Given the description of an element on the screen output the (x, y) to click on. 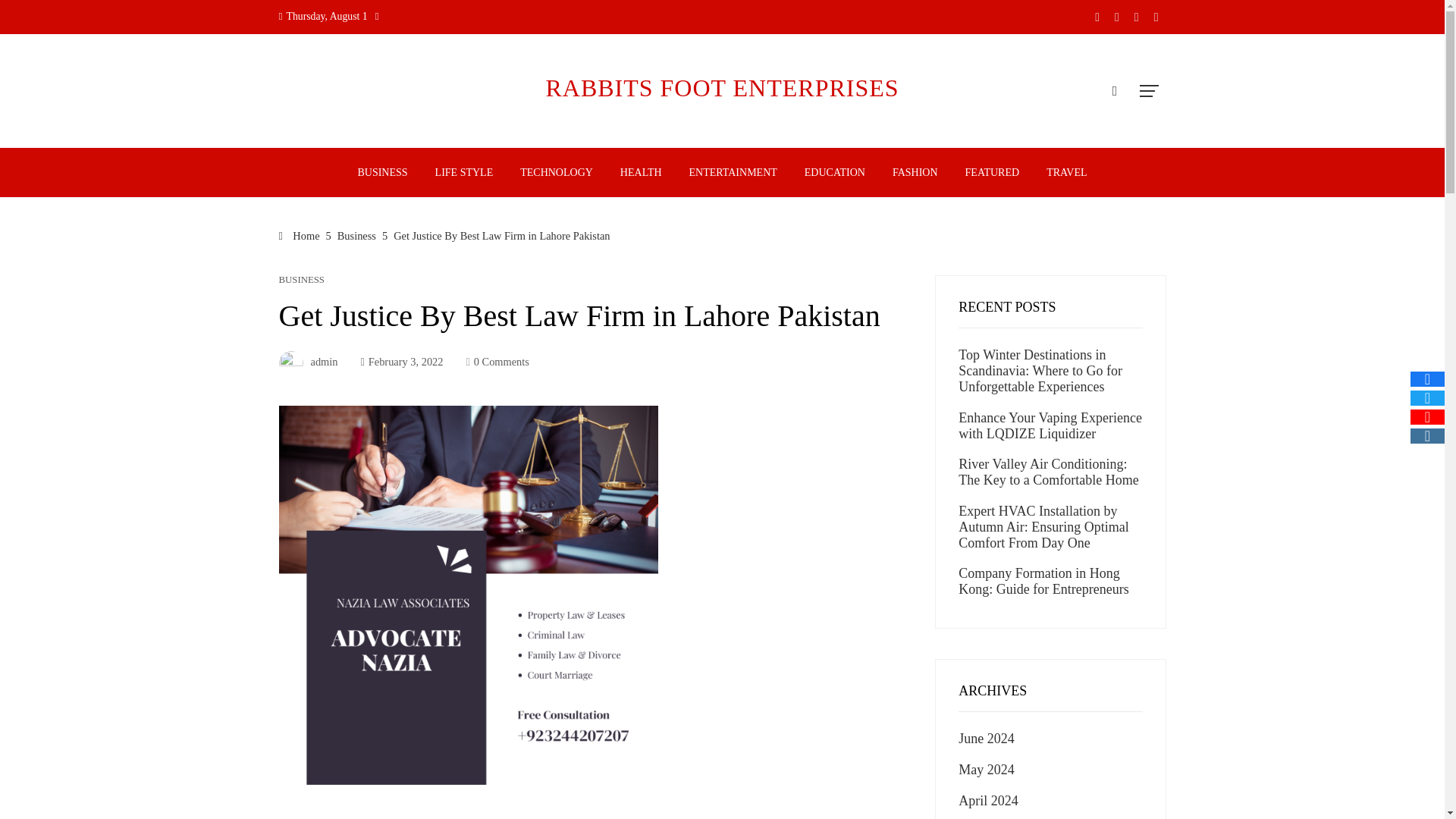
TRAVEL (1066, 172)
RABBITS FOOT ENTERPRISES (721, 87)
FASHION (914, 172)
BUSINESS (382, 172)
BUSINESS (301, 280)
Business (356, 235)
Home (299, 235)
ENTERTAINMENT (733, 172)
HEALTH (640, 172)
LIFE STYLE (464, 172)
FEATURED (991, 172)
TECHNOLOGY (556, 172)
EDUCATION (834, 172)
